Given the description of an element on the screen output the (x, y) to click on. 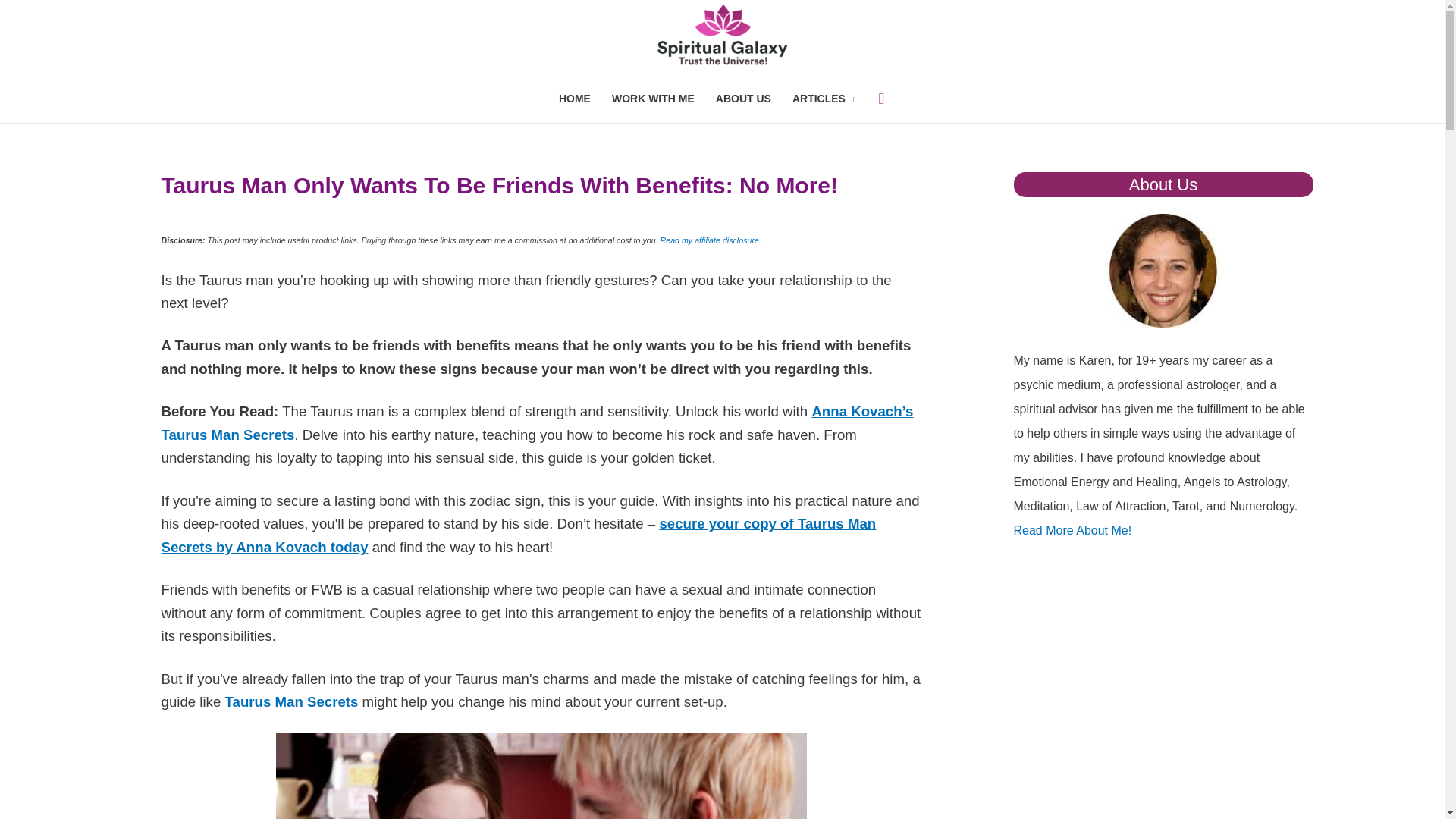
WORK WITH ME (652, 97)
Read my affiliate disclosure. (711, 239)
Search (33, 16)
secure your copy of Taurus Man Secrets by Anna Kovach today (518, 535)
HOME (574, 97)
ARTICLES (823, 97)
Taurus Man Secrets (289, 701)
ABOUT US (742, 97)
